Given the description of an element on the screen output the (x, y) to click on. 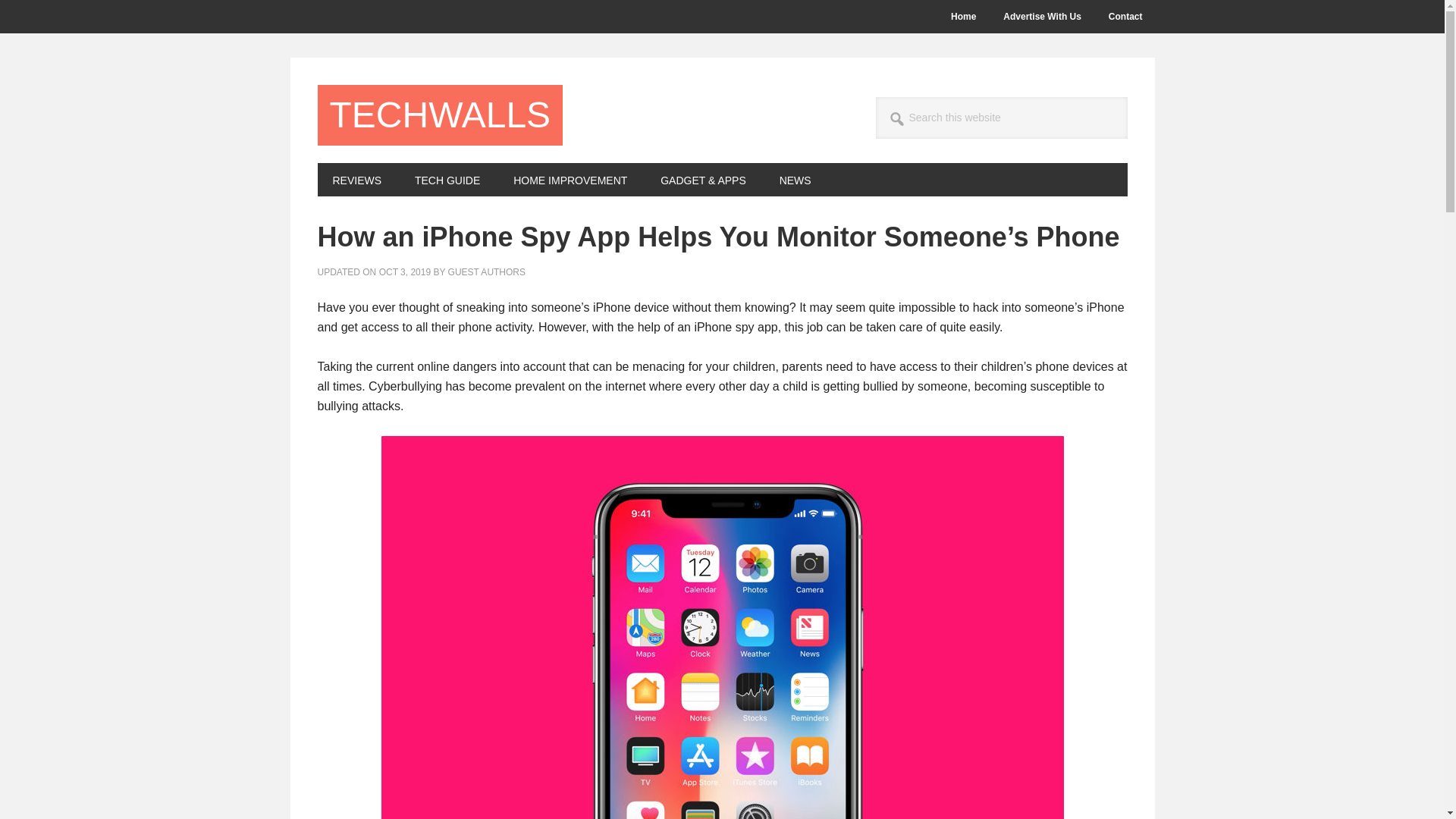
TECHWALLS (439, 115)
GUEST AUTHORS (486, 271)
REVIEWS (356, 179)
Contact (1125, 16)
Home (963, 16)
Advertise With Us (1042, 16)
NEWS (795, 179)
HOME IMPROVEMENT (569, 179)
TECH GUIDE (446, 179)
Tech Guide (446, 179)
